Given the description of an element on the screen output the (x, y) to click on. 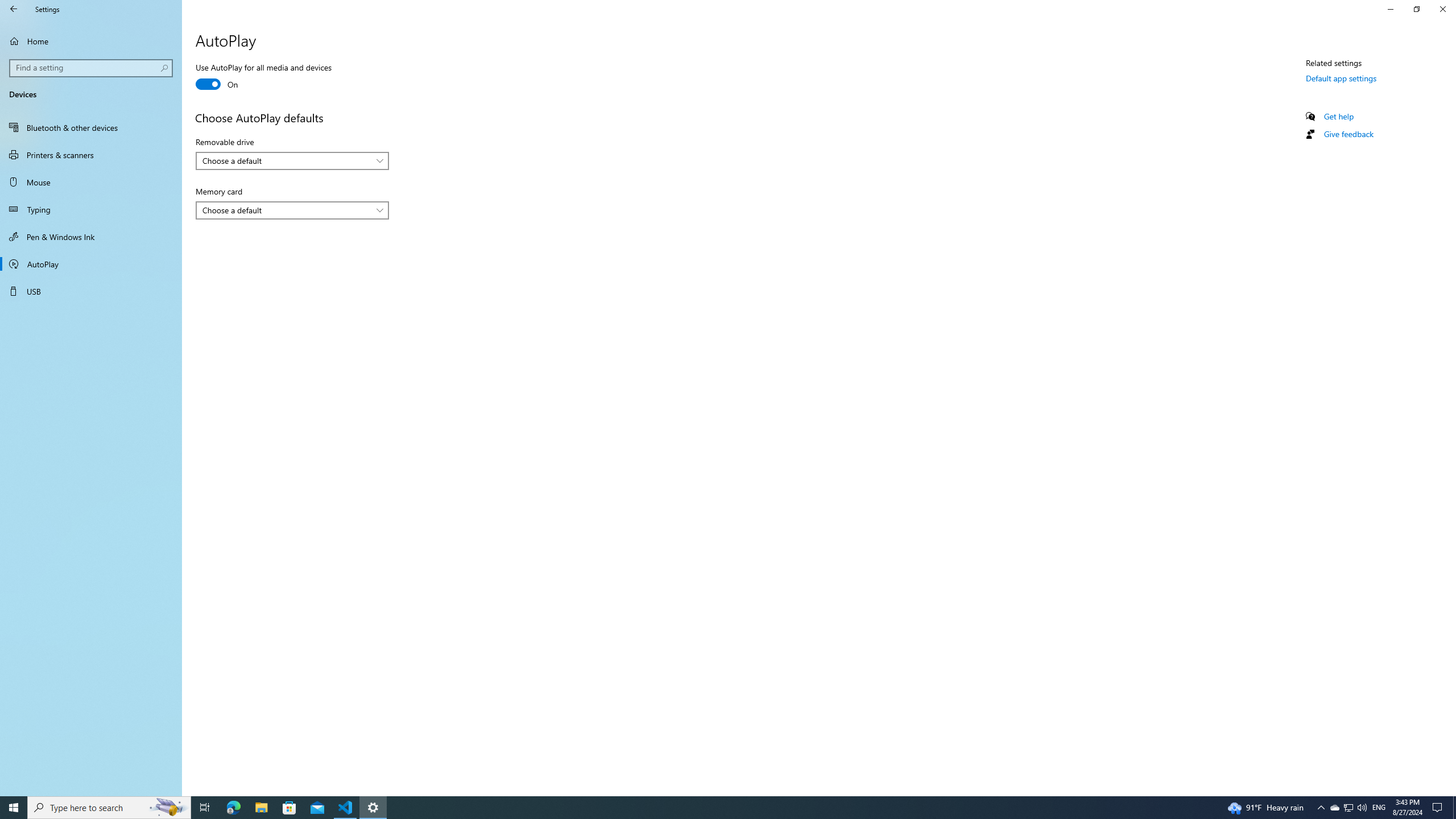
Bluetooth & other devices (91, 126)
AutoPlay (91, 263)
